Given the description of an element on the screen output the (x, y) to click on. 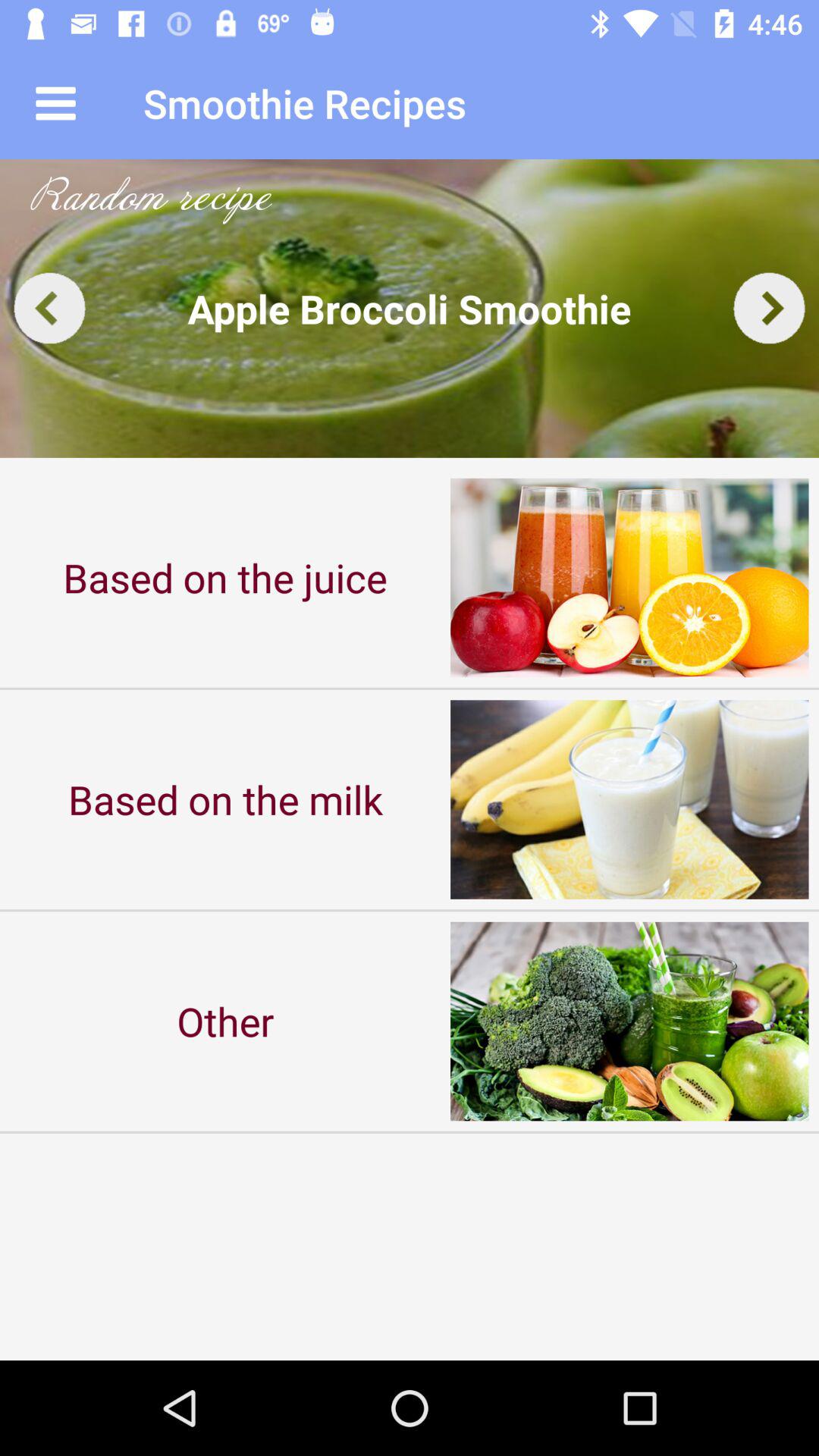
click the icon next to smoothie recipes (55, 103)
